Given the description of an element on the screen output the (x, y) to click on. 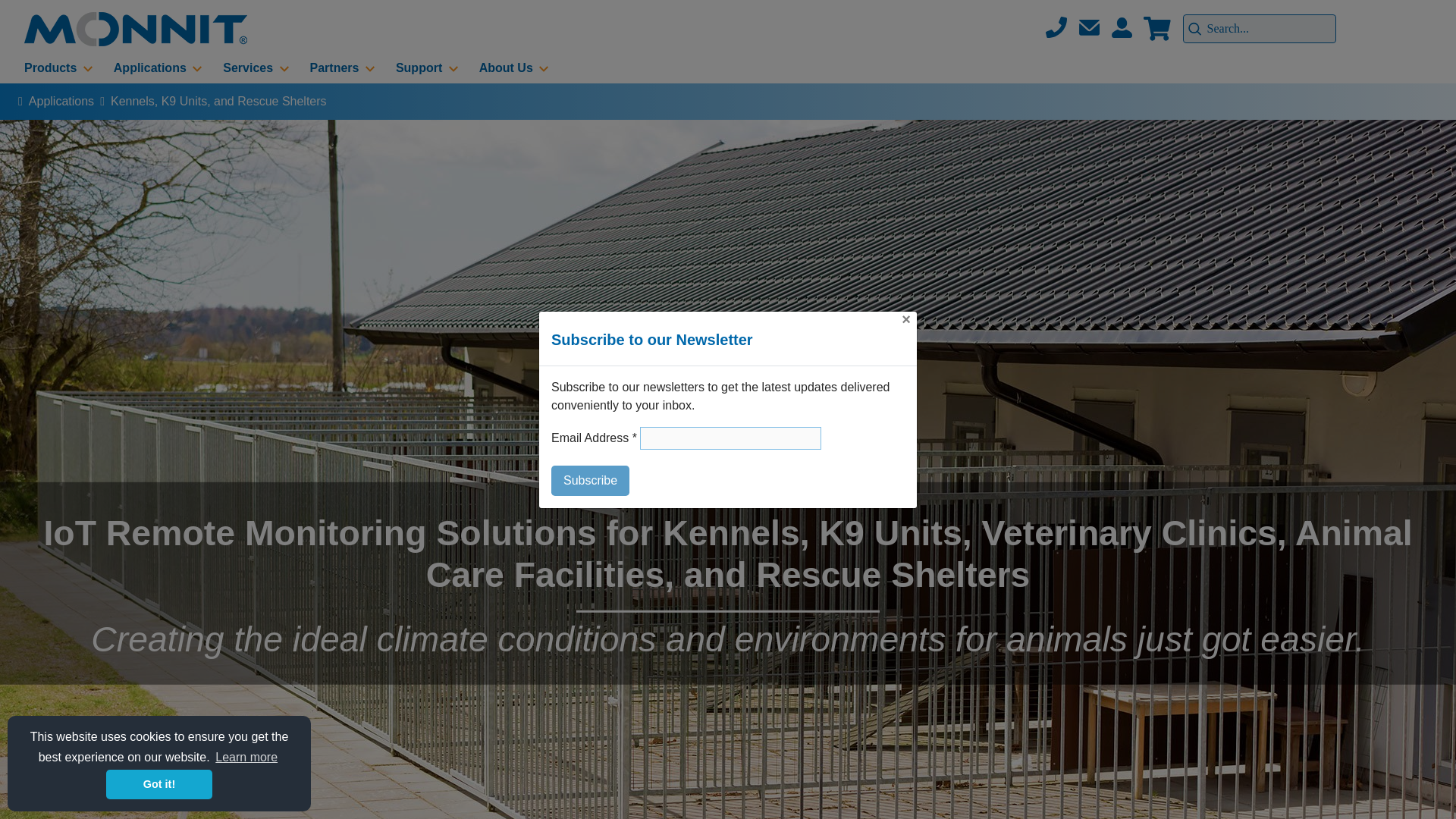
Got it! (159, 784)
Subscribe (589, 481)
Learn more (245, 757)
